Given the description of an element on the screen output the (x, y) to click on. 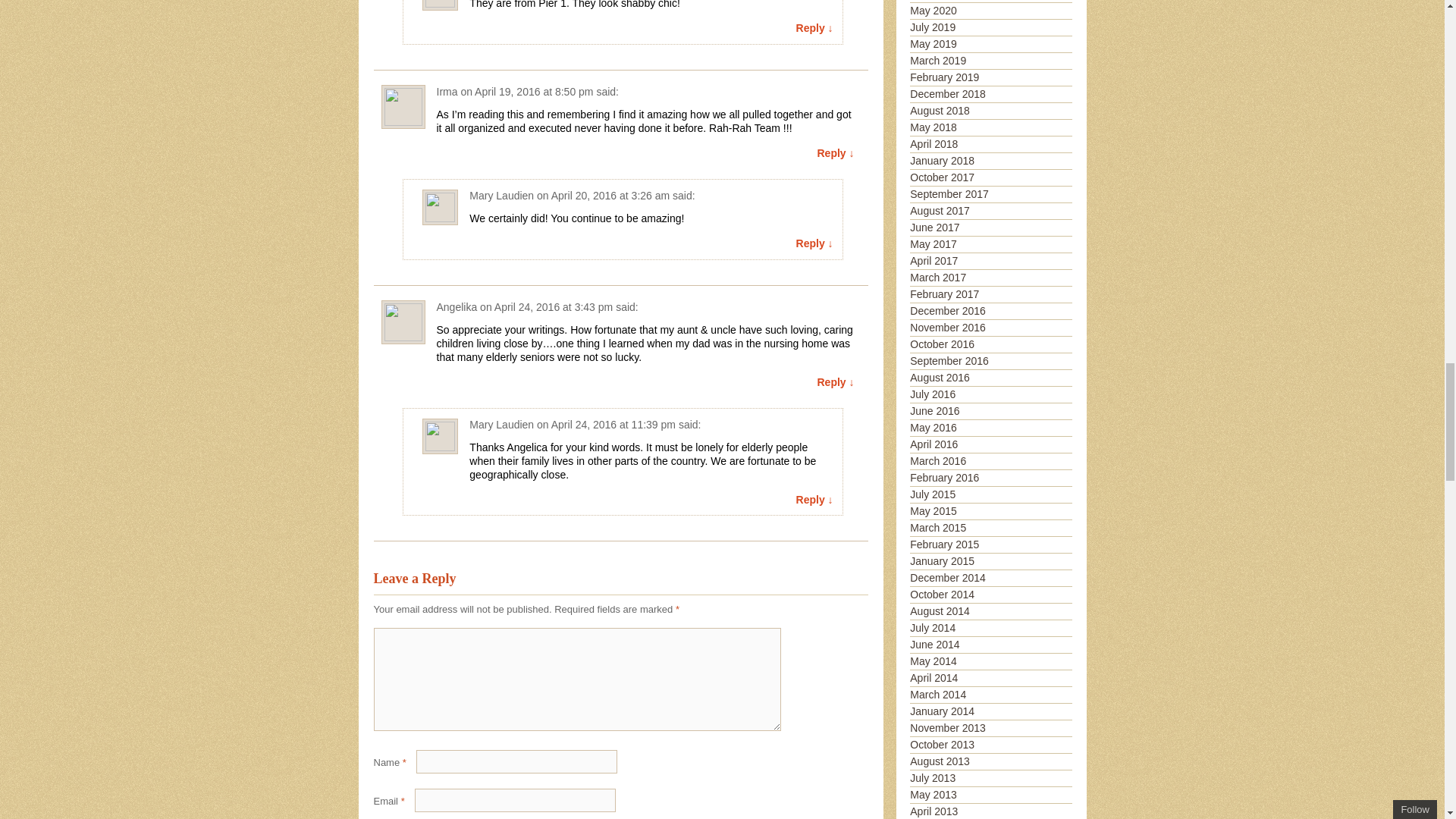
Mary Laudien (501, 195)
April 19, 2016 at 8:50 pm (533, 91)
April 24, 2016 at 3:43 pm (553, 306)
Mary Laudien (501, 424)
April 24, 2016 at 11:39 pm (613, 424)
April 20, 2016 at 3:26 am (610, 195)
